Given the description of an element on the screen output the (x, y) to click on. 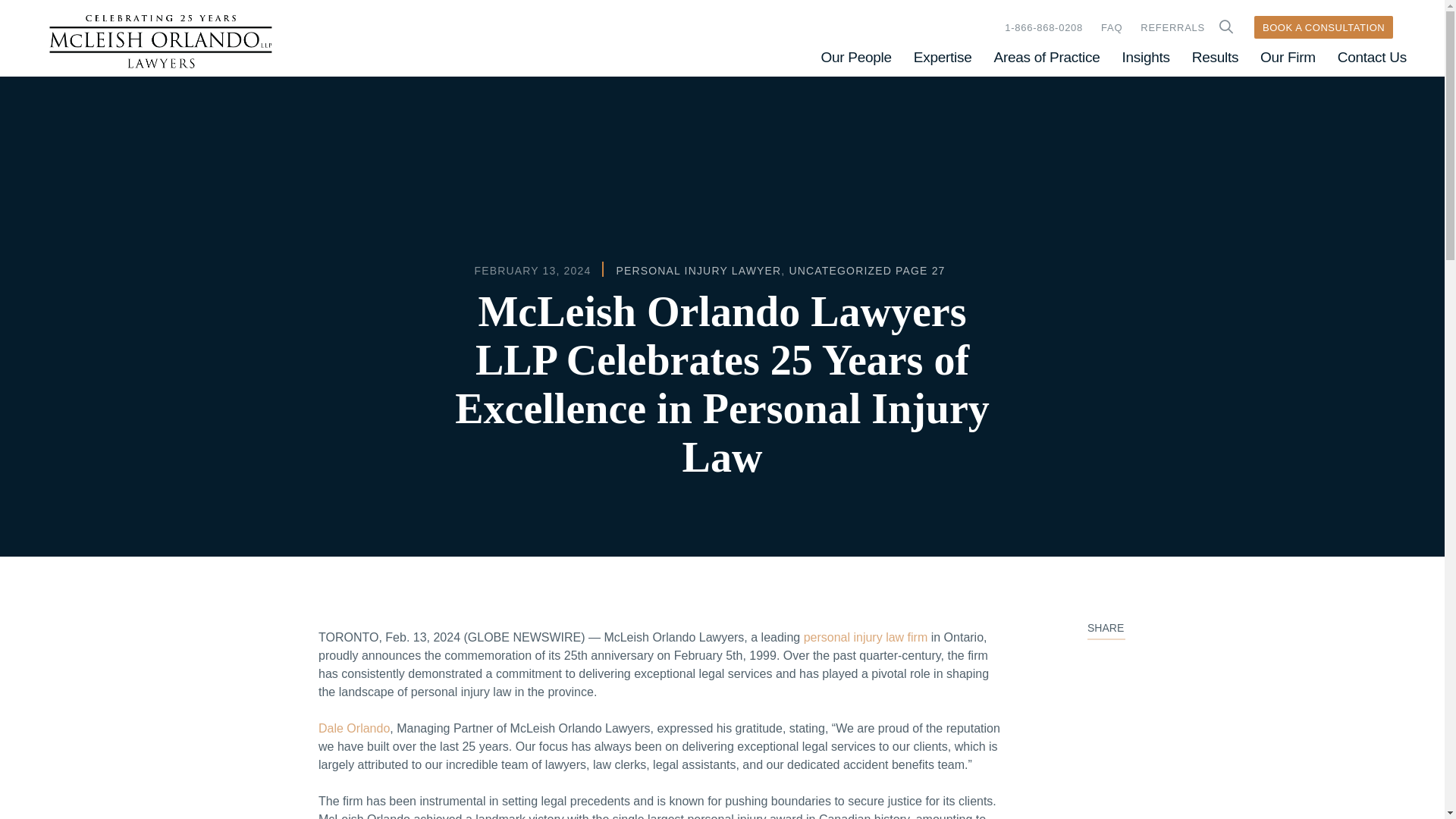
Expertise (943, 57)
Insights (1145, 57)
Contact Us (1372, 57)
Submit (1225, 26)
View all posts in Personal Injury Lawyer (697, 270)
Our People (856, 57)
View all posts in Uncategorized Page 27 (866, 270)
Areas of Practice (1047, 57)
Our Firm (1288, 57)
FAQ (1111, 27)
1-866-868-0208 (1043, 27)
Results (1215, 57)
